Given the description of an element on the screen output the (x, y) to click on. 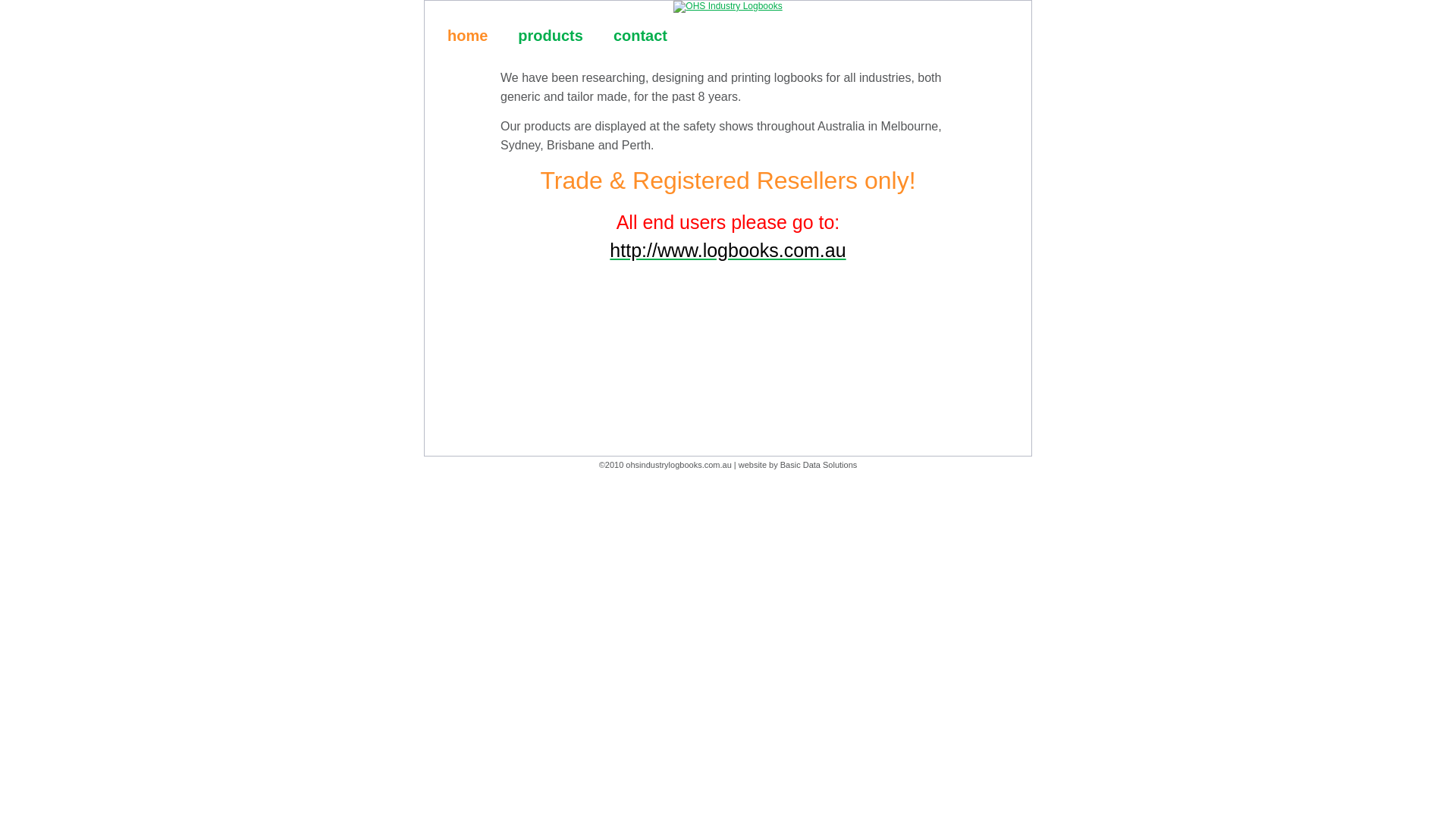
products Element type: text (550, 35)
contact Element type: text (640, 35)
OHS Industry Logbooks Element type: hover (727, 6)
Basic Data Solutions Element type: text (818, 464)
ohsindustrylogbooks.com.au Element type: text (678, 464)
home Element type: text (467, 35)
http://www.logbooks.com.au Element type: text (727, 249)
